Given the description of an element on the screen output the (x, y) to click on. 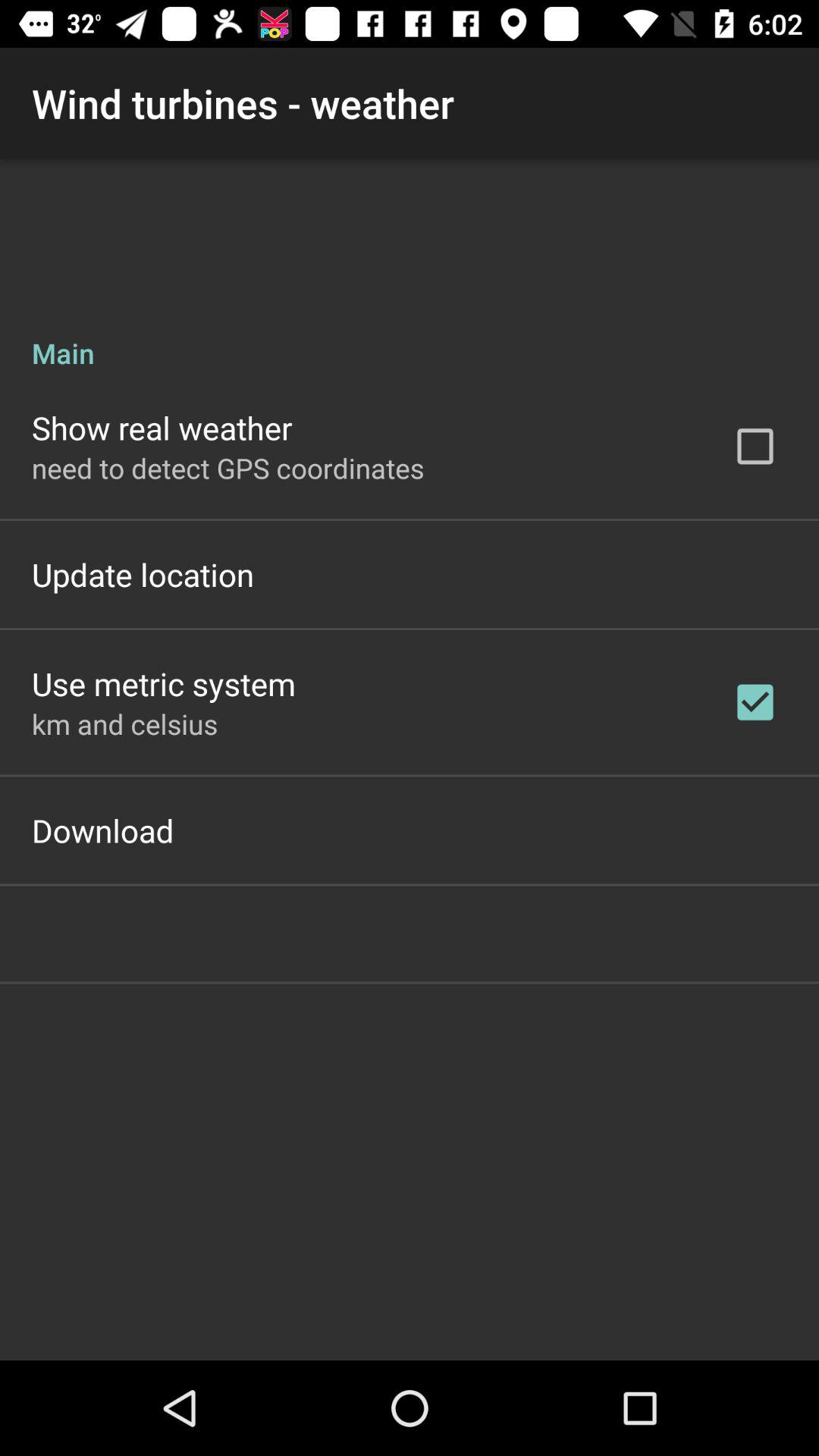
click the update location (142, 574)
